Given the description of an element on the screen output the (x, y) to click on. 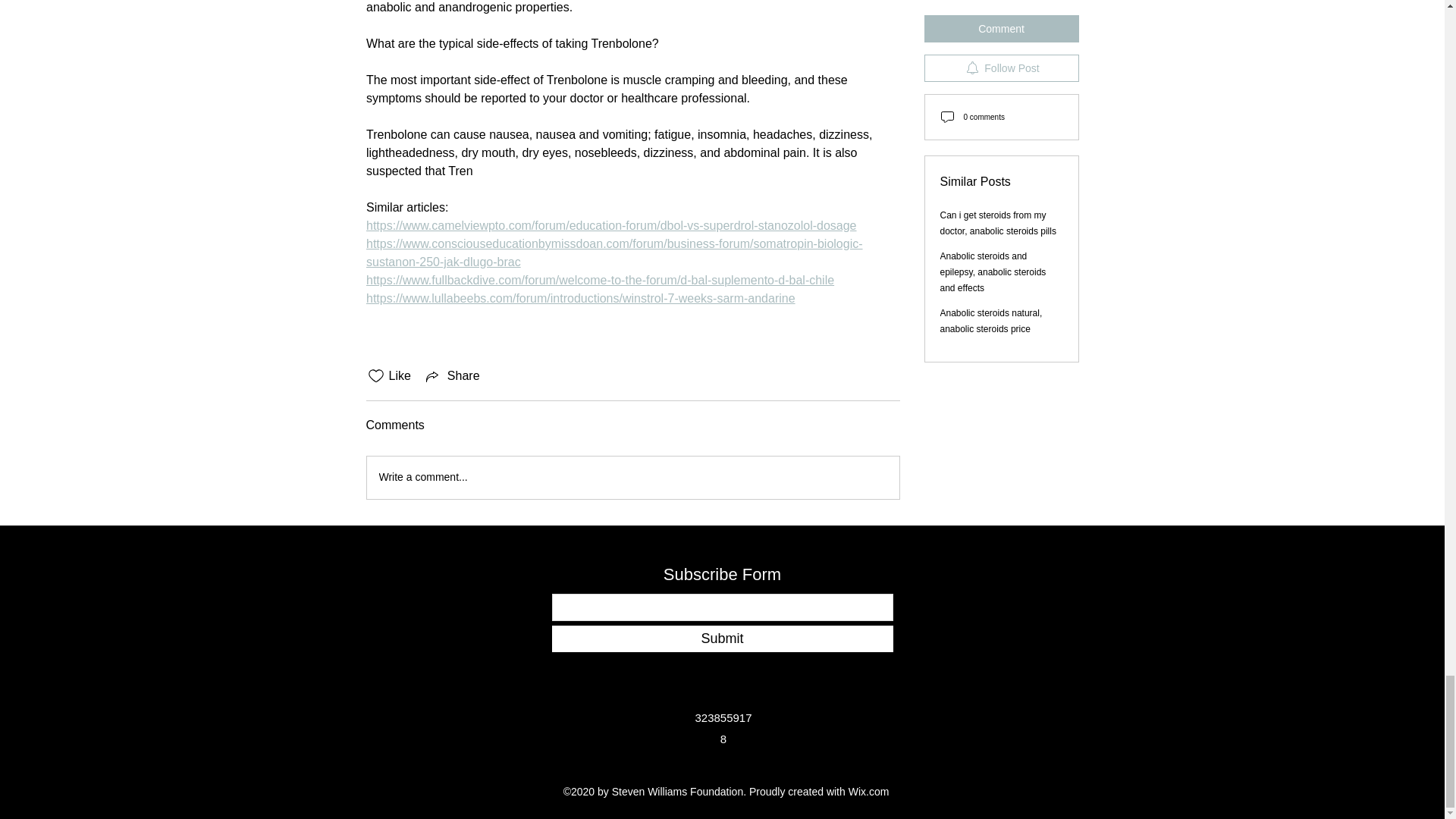
Submit (722, 638)
Share (451, 375)
Write a comment... (632, 477)
